Given the description of an element on the screen output the (x, y) to click on. 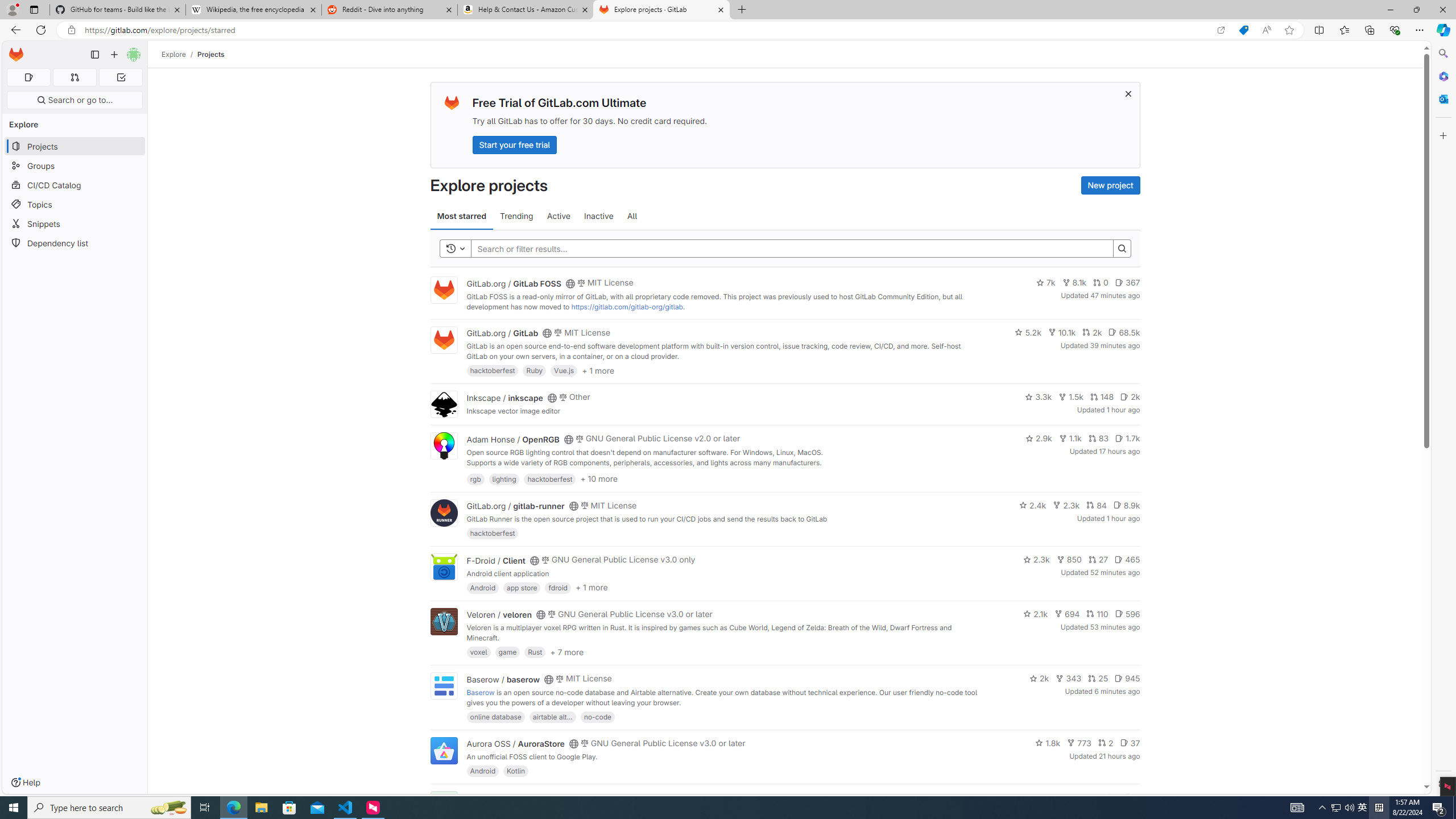
Help (25, 782)
Vue.js (563, 370)
1.4k (1054, 797)
Topics (74, 203)
773 (1079, 742)
Snippets (74, 223)
694 (1067, 613)
Trending (516, 216)
Reddit - Dive into anything (390, 9)
